Given the description of an element on the screen output the (x, y) to click on. 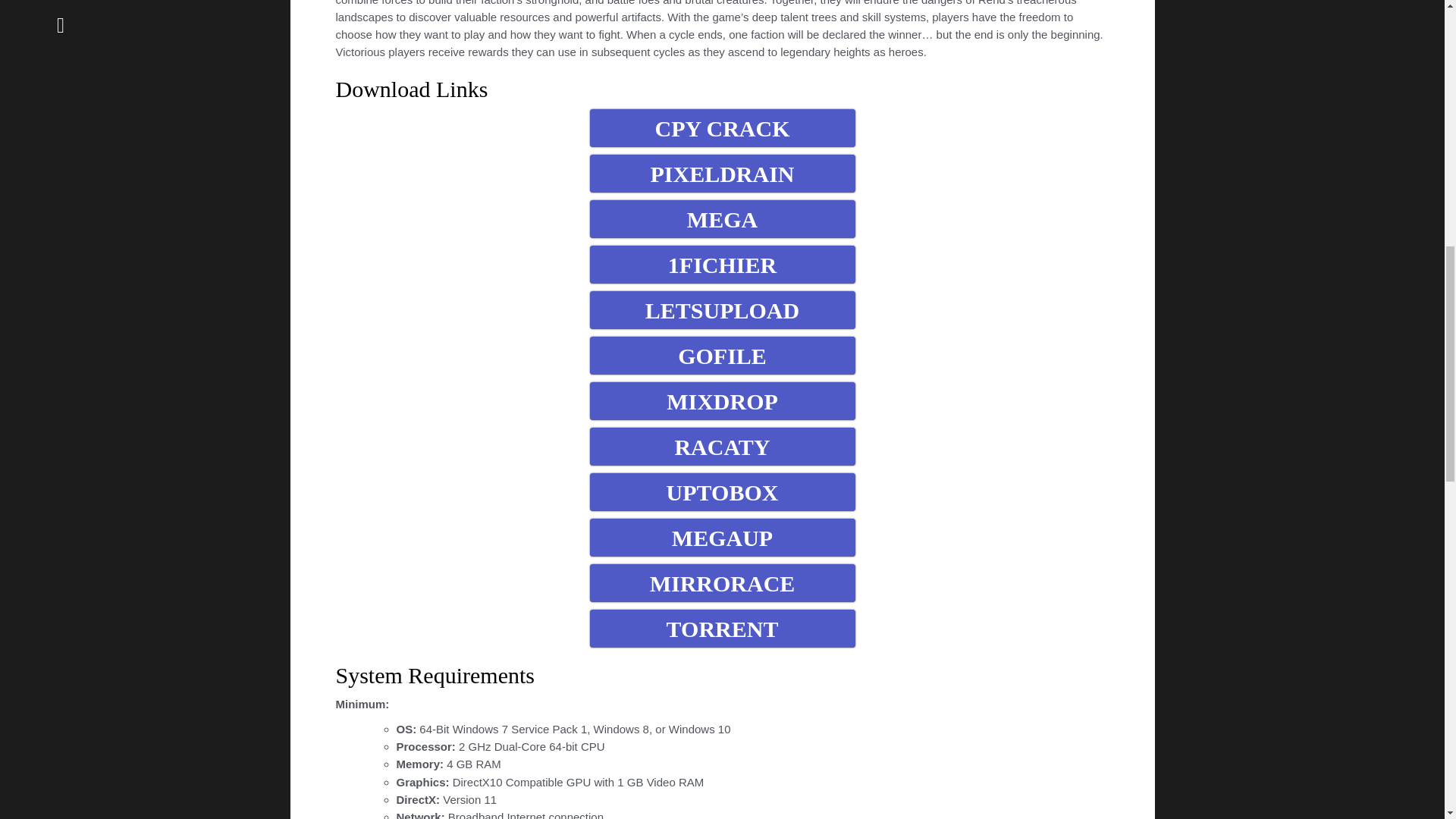
MIRRORACE (722, 582)
GOFILE (722, 355)
TORRENT (722, 628)
1FICHIER (722, 264)
UPTOBOX (722, 492)
CPY CRACK (722, 127)
RACATY (722, 446)
LETSUPLOAD (722, 310)
MEGAUP (722, 537)
PIXELDRAIN (722, 173)
MIXDROP (722, 401)
MEGA (722, 218)
